Given the description of an element on the screen output the (x, y) to click on. 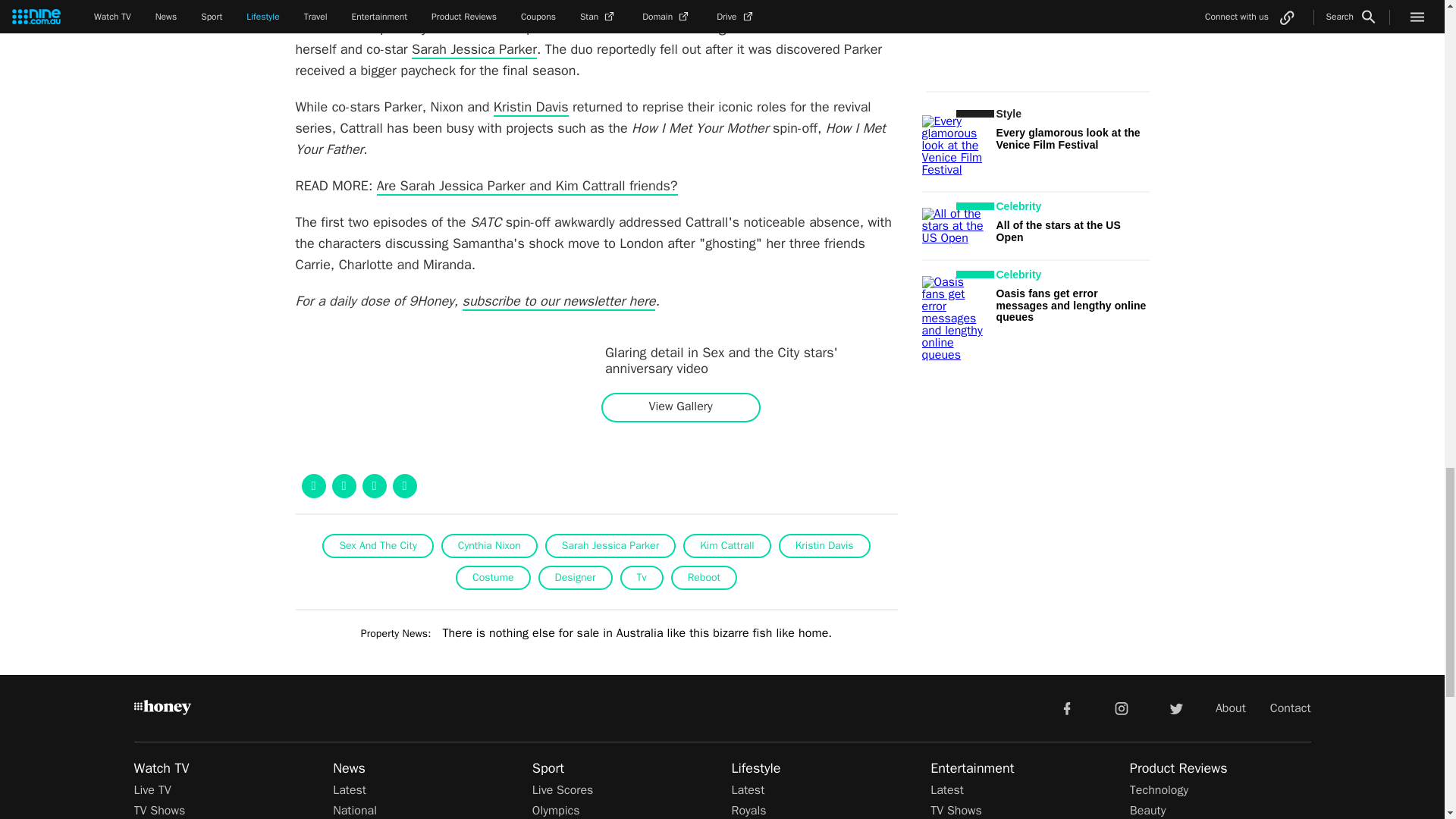
instagram (1121, 707)
Sarah Jessica Parker (474, 49)
facebook (1066, 707)
Kristin Davis (531, 107)
Kristin Davis (531, 107)
subscribe to our newsletter here (559, 301)
Are Sarah Jessica Parker and Kim Cattrall friends? (527, 186)
twitter (1175, 707)
Sarah Jessica Parker (474, 49)
